Given the description of an element on the screen output the (x, y) to click on. 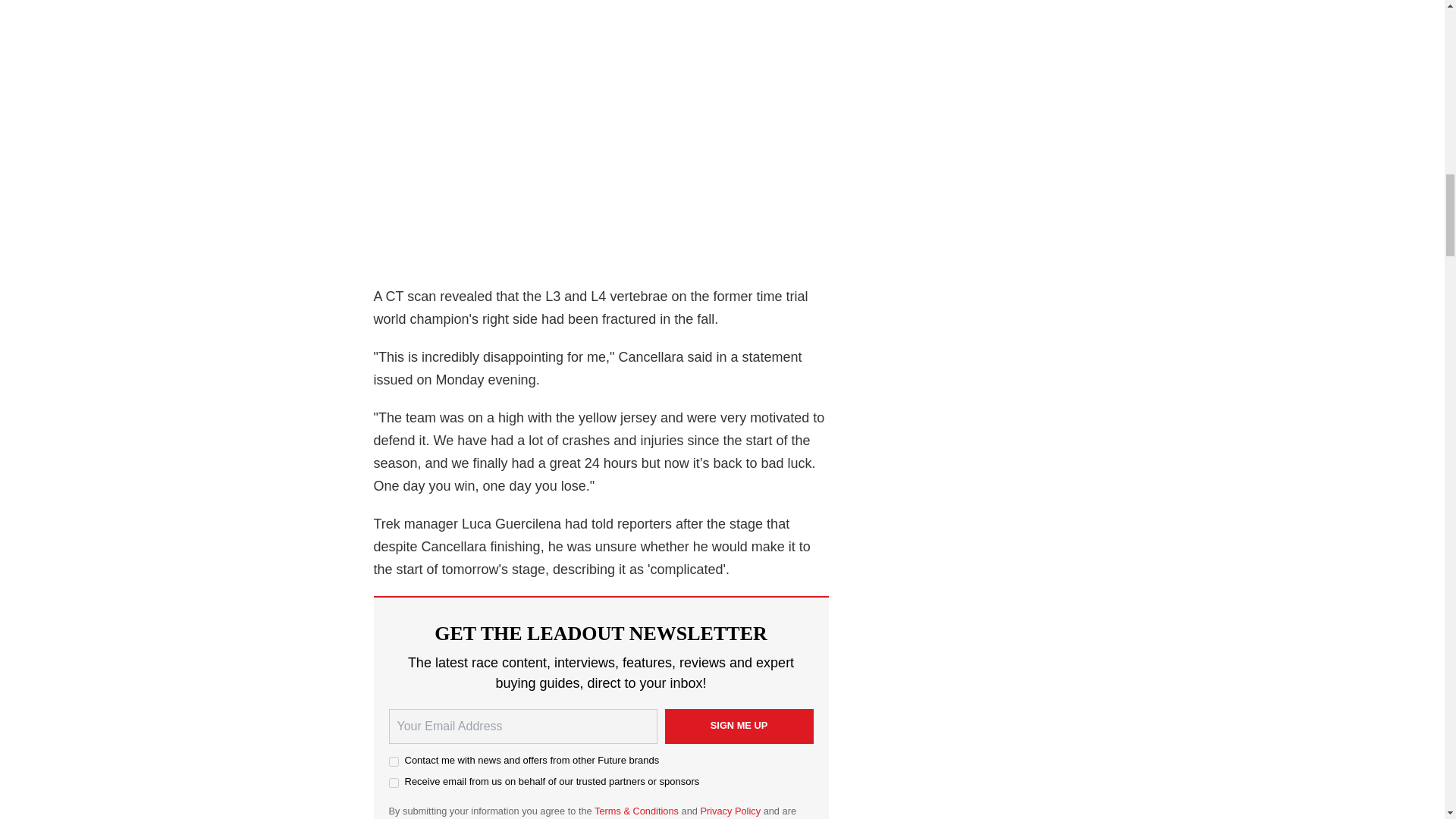
Sign me up (737, 726)
on (392, 782)
on (392, 761)
